Given the description of an element on the screen output the (x, y) to click on. 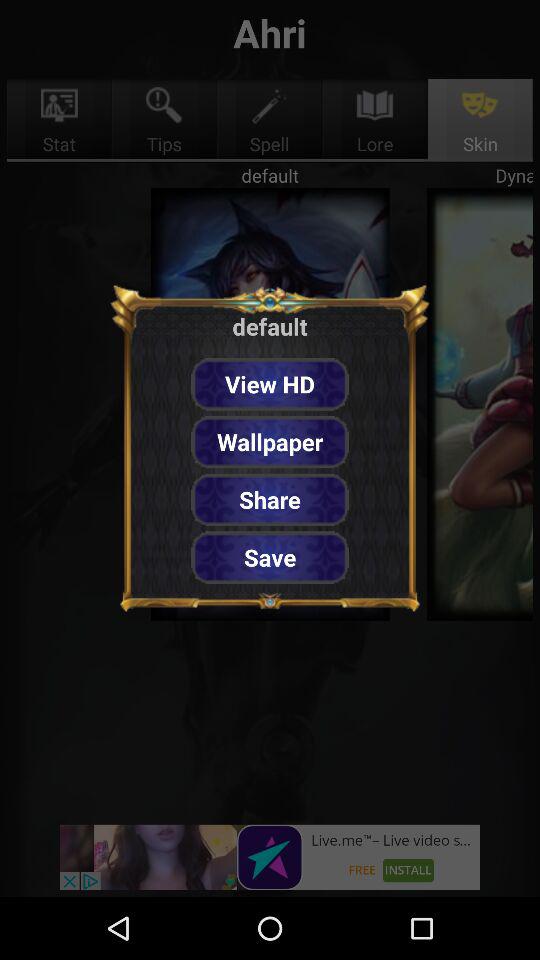
click the share button (269, 499)
